Given the description of an element on the screen output the (x, y) to click on. 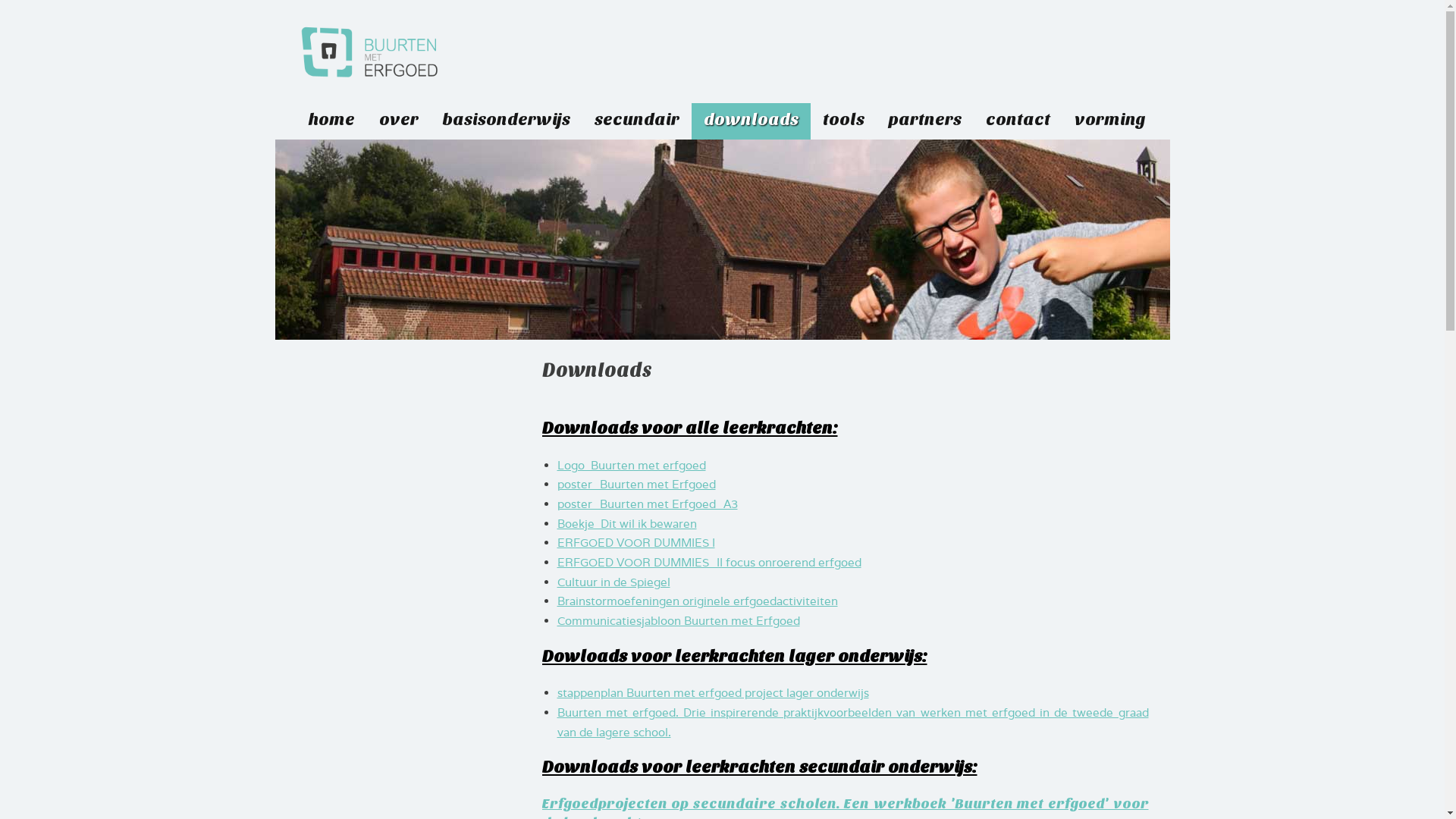
contact Element type: text (1017, 119)
tools Element type: text (842, 119)
home Element type: text (330, 119)
secundair Element type: text (636, 119)
ERFGOED VOOR DUMMIES_II focus onroerend erfgoed Element type: text (708, 562)
Brainstormoefeningen originele erfgoedactiviteiten Element type: text (696, 600)
Boekje  Dit wil ik bewaren Element type: text (626, 523)
over Element type: text (398, 119)
poster_Buurten met Erfgoed Element type: text (635, 483)
Communicatiesjabloon Buurten met Erfgoed Element type: text (677, 620)
ERFGOED VOOR DUMMIES I Element type: text (635, 542)
stappenplan Buurten met erfgoed project lager onderwijs Element type: text (712, 692)
partners Element type: text (924, 119)
poster_Buurten met Erfgoed_A3 Element type: text (646, 503)
vorming Element type: text (1109, 119)
Logo  Buurten met erfgoed Element type: text (630, 465)
downloads Element type: text (750, 119)
Cultuur in de Spiegel Element type: text (612, 581)
basisonderwijs Element type: text (506, 119)
